Given the description of an element on the screen output the (x, y) to click on. 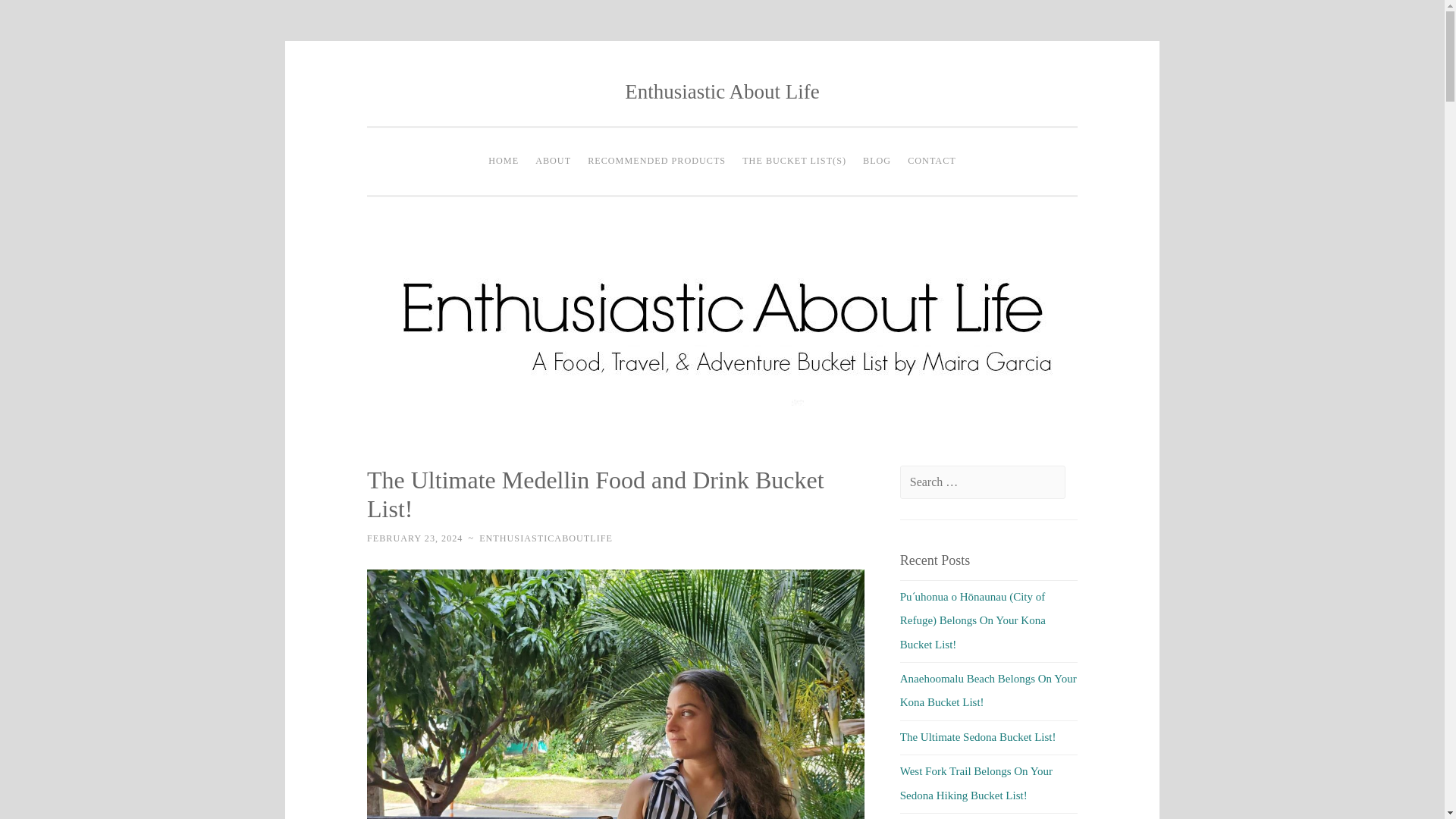
The Ultimate Sedona Bucket List! (978, 736)
CONTACT (931, 161)
FEBRUARY 23, 2024 (414, 538)
Anaehoomalu Beach Belongs On Your Kona Bucket List! (988, 690)
HOME (503, 161)
Enthusiastic About Life (721, 91)
RECOMMENDED PRODUCTS (656, 161)
ENTHUSIASTICABOUTLIFE (545, 538)
BLOG (877, 161)
ABOUT (553, 161)
Search (39, 16)
West Fork Trail Belongs On Your Sedona Hiking Bucket List! (975, 782)
